Given the description of an element on the screen output the (x, y) to click on. 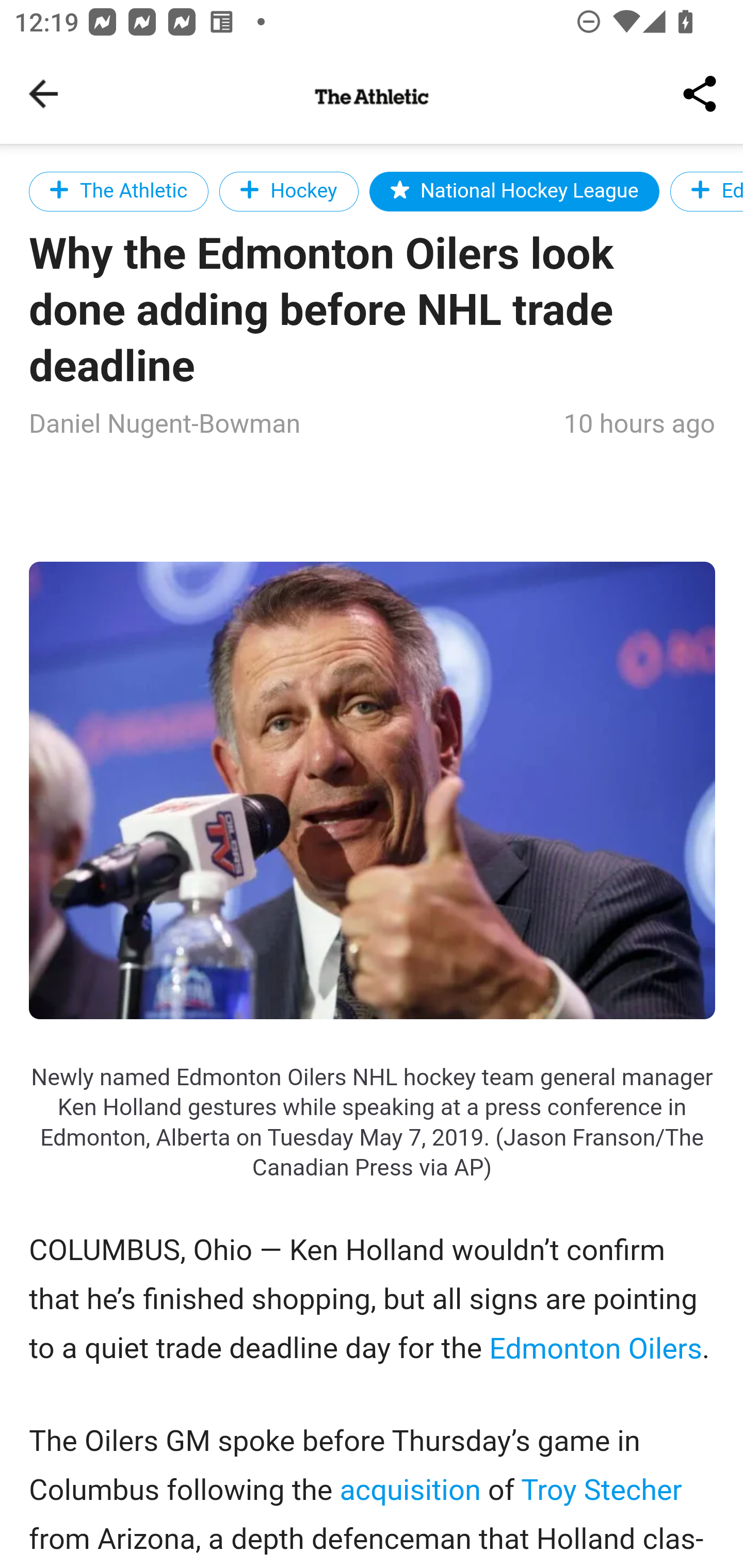
The Athletic (118, 191)
Hockey (288, 191)
National Hockey League (514, 191)
Edmonton Oilers (594, 1348)
acquisition (410, 1490)
Troy Stecher (601, 1490)
